Given the description of an element on the screen output the (x, y) to click on. 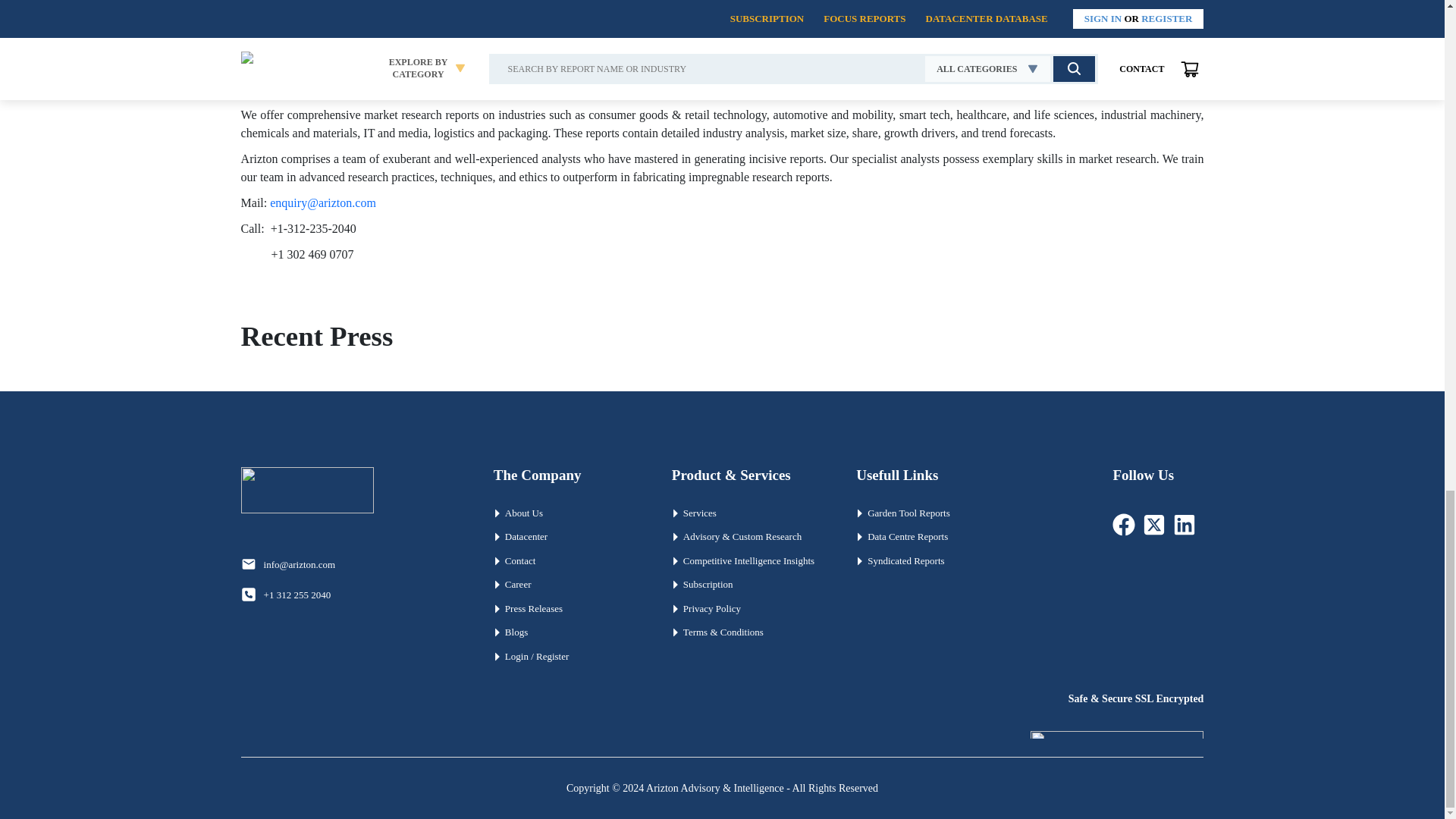
Competitive Intelligence Insights (747, 560)
Services (747, 513)
Career (567, 584)
Contact (567, 560)
Datacenter (567, 536)
About Us (567, 513)
Blogs (567, 631)
Press Releases (567, 608)
